Given the description of an element on the screen output the (x, y) to click on. 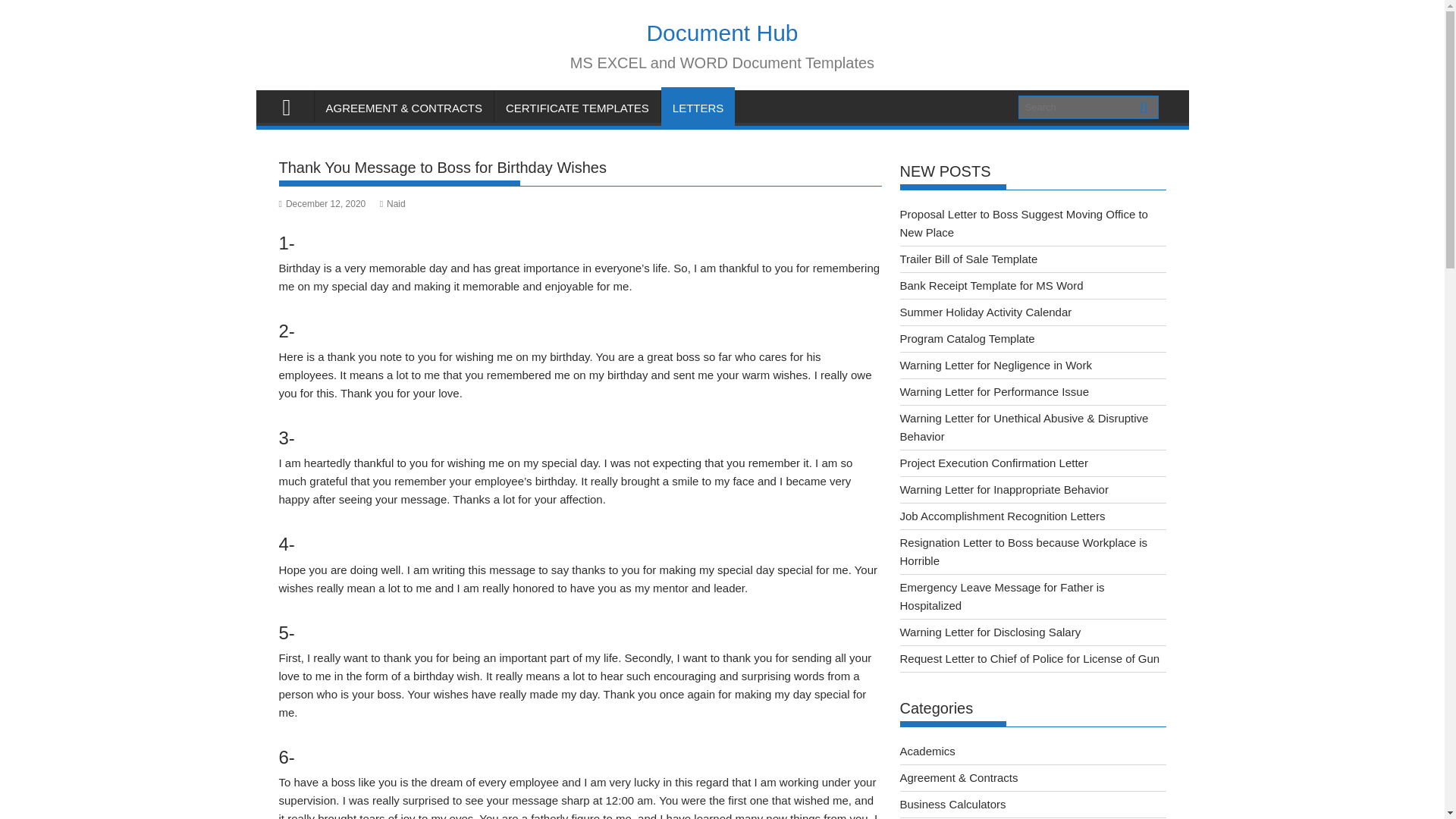
LETTERS (698, 108)
Program Catalog Template (966, 338)
Trailer Bill of Sale Template (967, 258)
Naid (393, 204)
Bank Receipt Template for MS Word (991, 285)
Warning Letter for Performance Issue (994, 391)
Warning Letter for Negligence in Work (994, 364)
Document Hub (293, 105)
Document Hub (721, 32)
CERTIFICATE TEMPLATES (578, 108)
